Given the description of an element on the screen output the (x, y) to click on. 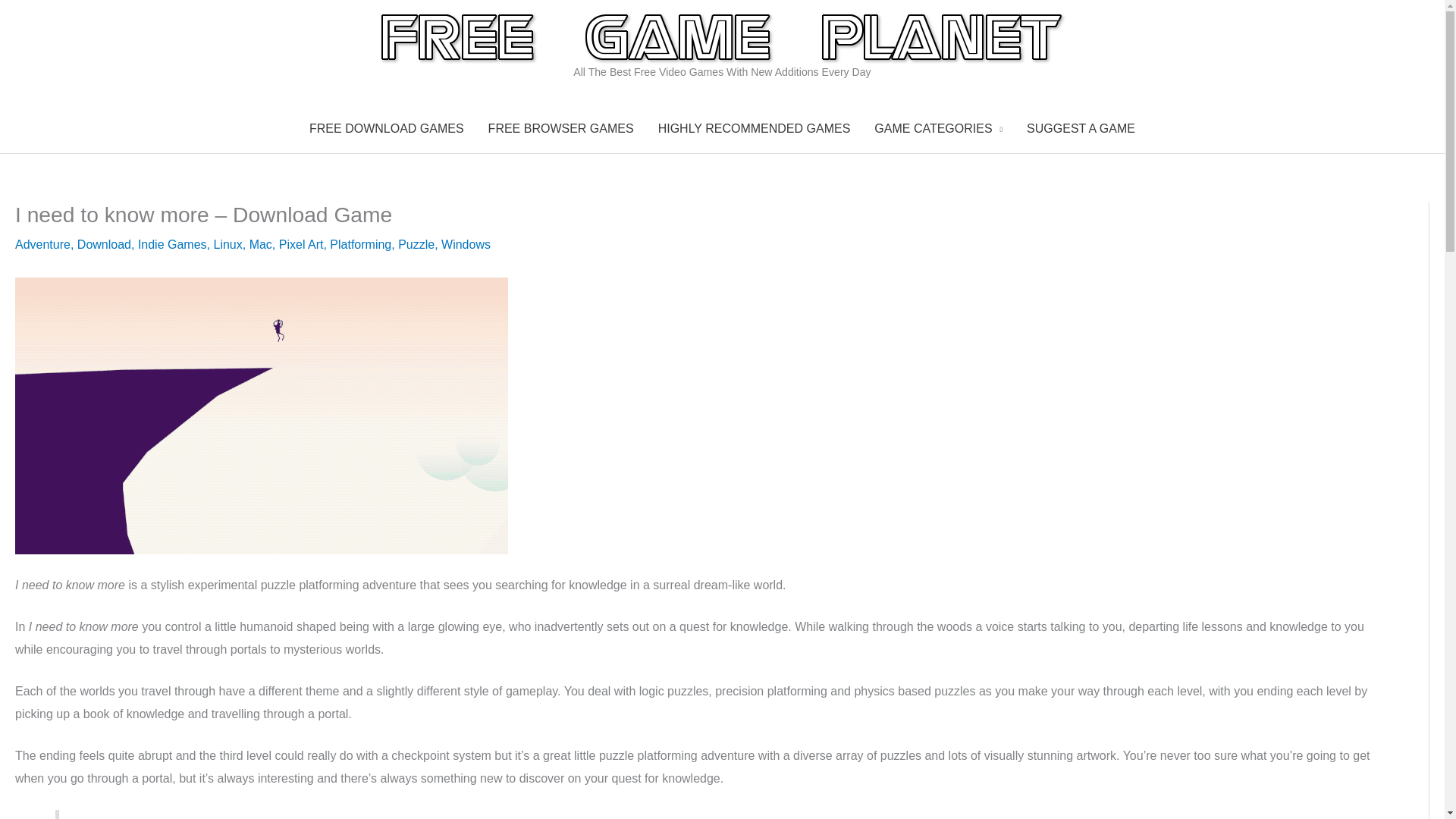
HIGHLY RECOMMENDED GAMES (754, 128)
FREE BROWSER GAMES (561, 128)
FREE DOWNLOAD GAMES (386, 128)
GAME CATEGORIES (937, 128)
